Given the description of an element on the screen output the (x, y) to click on. 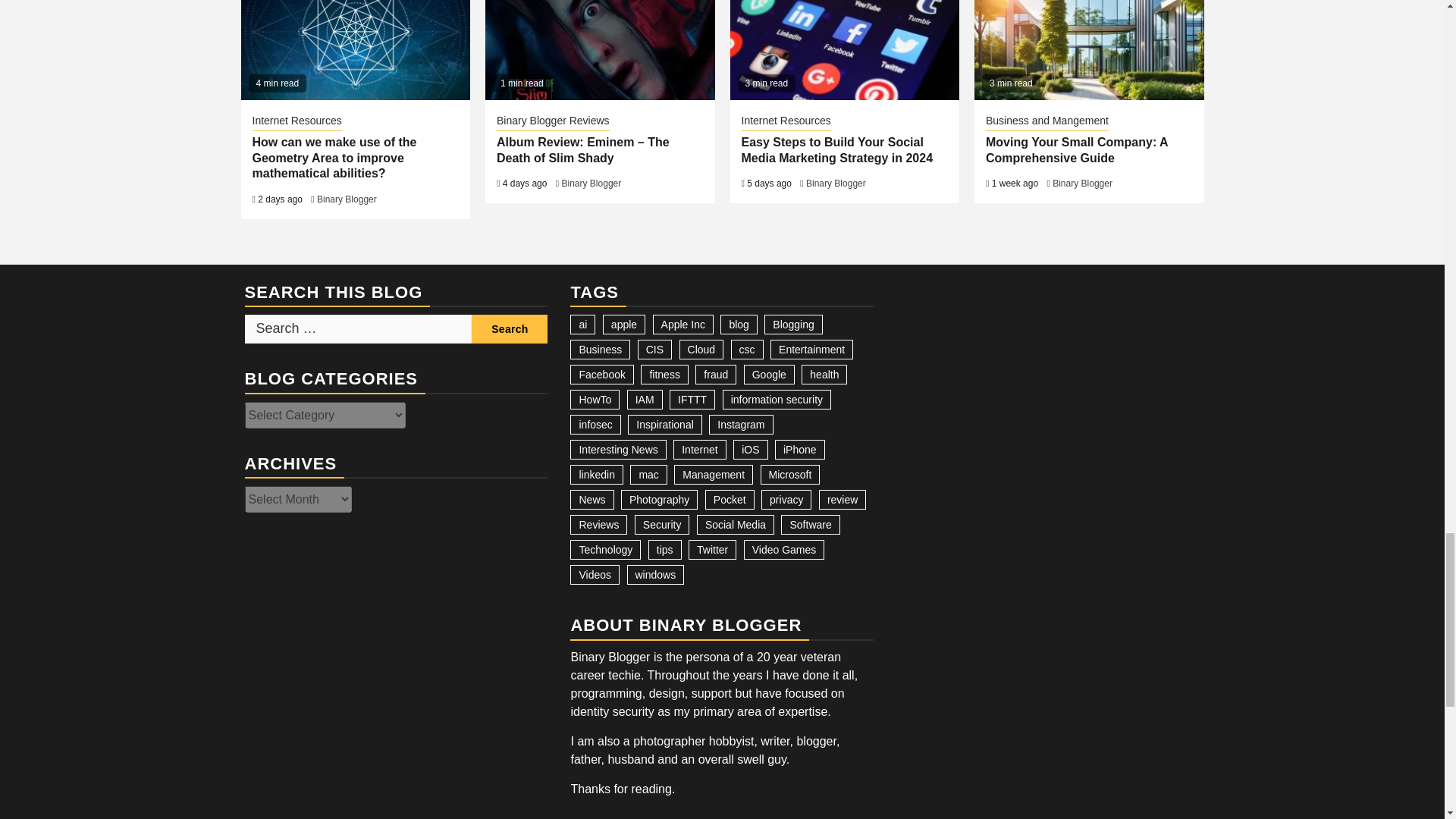
Search (509, 328)
Search (509, 328)
